Given the description of an element on the screen output the (x, y) to click on. 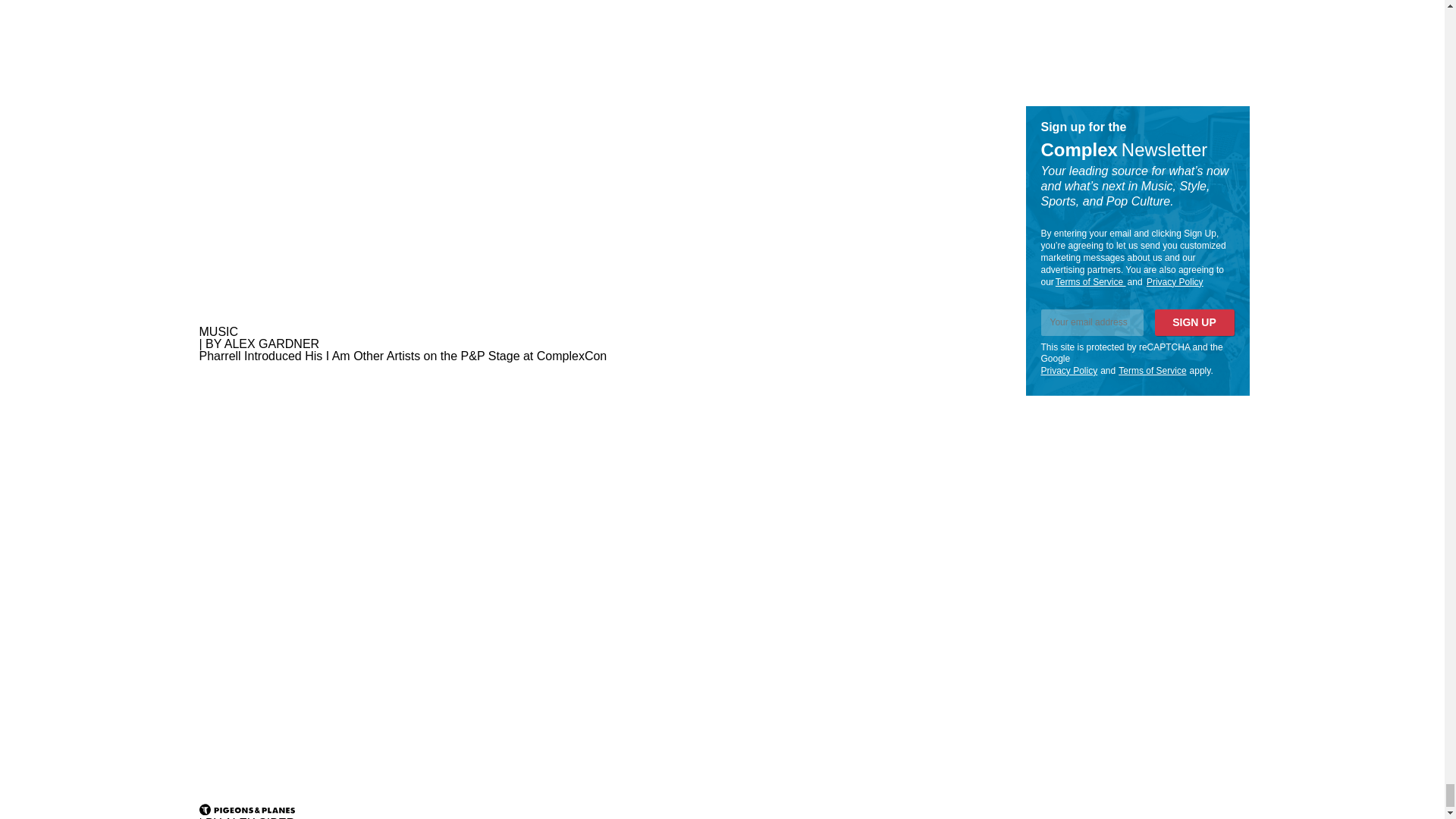
Pigeons and Planes logo (246, 808)
